Given the description of an element on the screen output the (x, y) to click on. 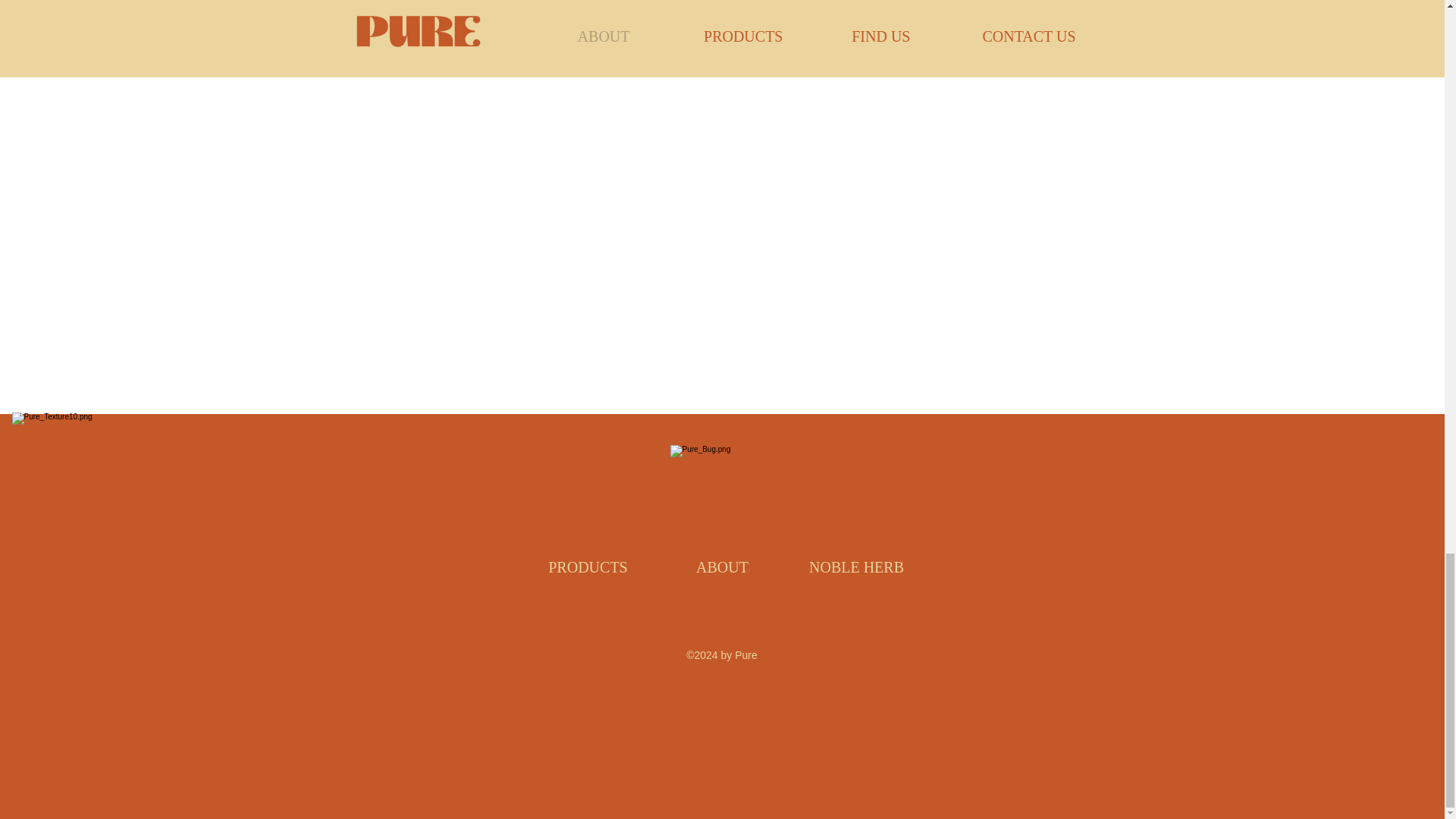
NOBLE HERB (856, 566)
ABOUT (721, 566)
PRODUCTS (587, 566)
